Given the description of an element on the screen output the (x, y) to click on. 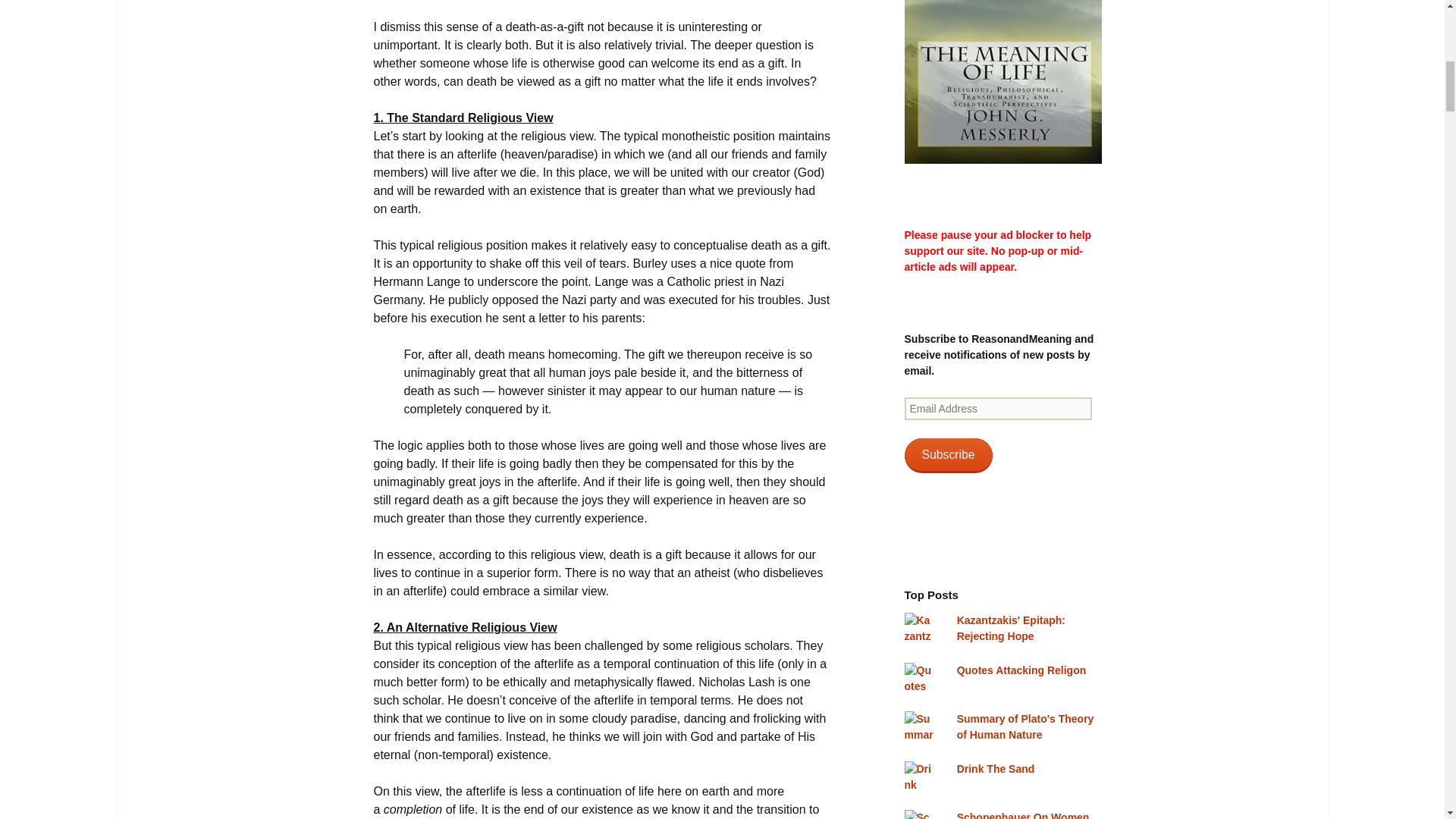
Kazantzakis' Epitaph: Rejecting Hope (1010, 628)
